Given the description of an element on the screen output the (x, y) to click on. 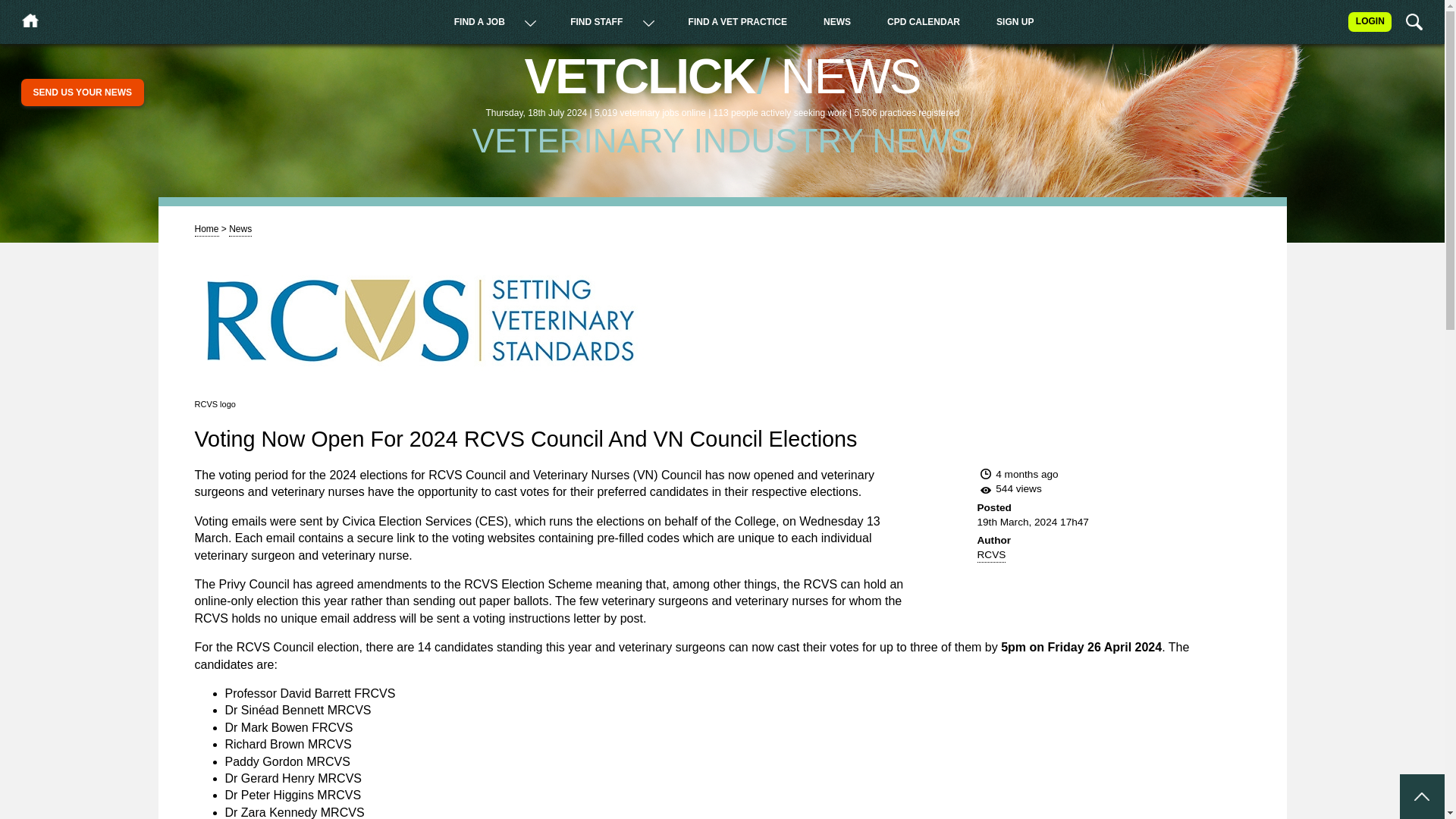
NEWS (837, 22)
RCVS logo (421, 319)
CPD CALENDAR (922, 22)
Home (205, 229)
News (239, 229)
FIND A VET PRACTICE (737, 22)
RCVS (991, 555)
FIND STAFF (596, 22)
SIGN UP (1014, 22)
FIND A JOB (479, 22)
